Given the description of an element on the screen output the (x, y) to click on. 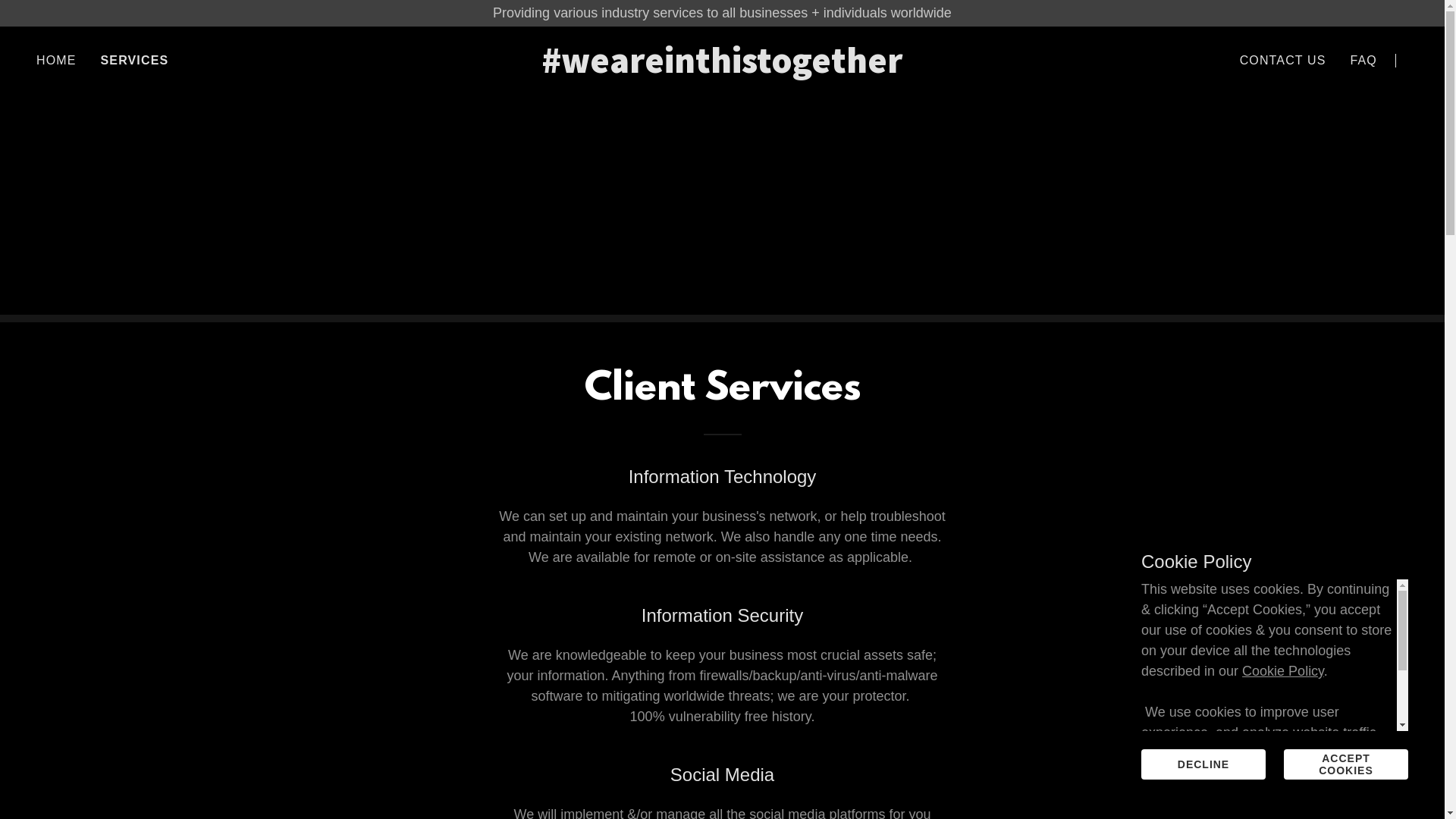
ACCEPT COOKIES Element type: text (1345, 764)
FAQ Element type: text (1363, 60)
CONTACT US Element type: text (1282, 60)
DECLINE Element type: text (1203, 764)
HOME Element type: text (56, 60)
#weareinthistogether Element type: text (721, 67)
SERVICES Element type: text (134, 60)
